Given the description of an element on the screen output the (x, y) to click on. 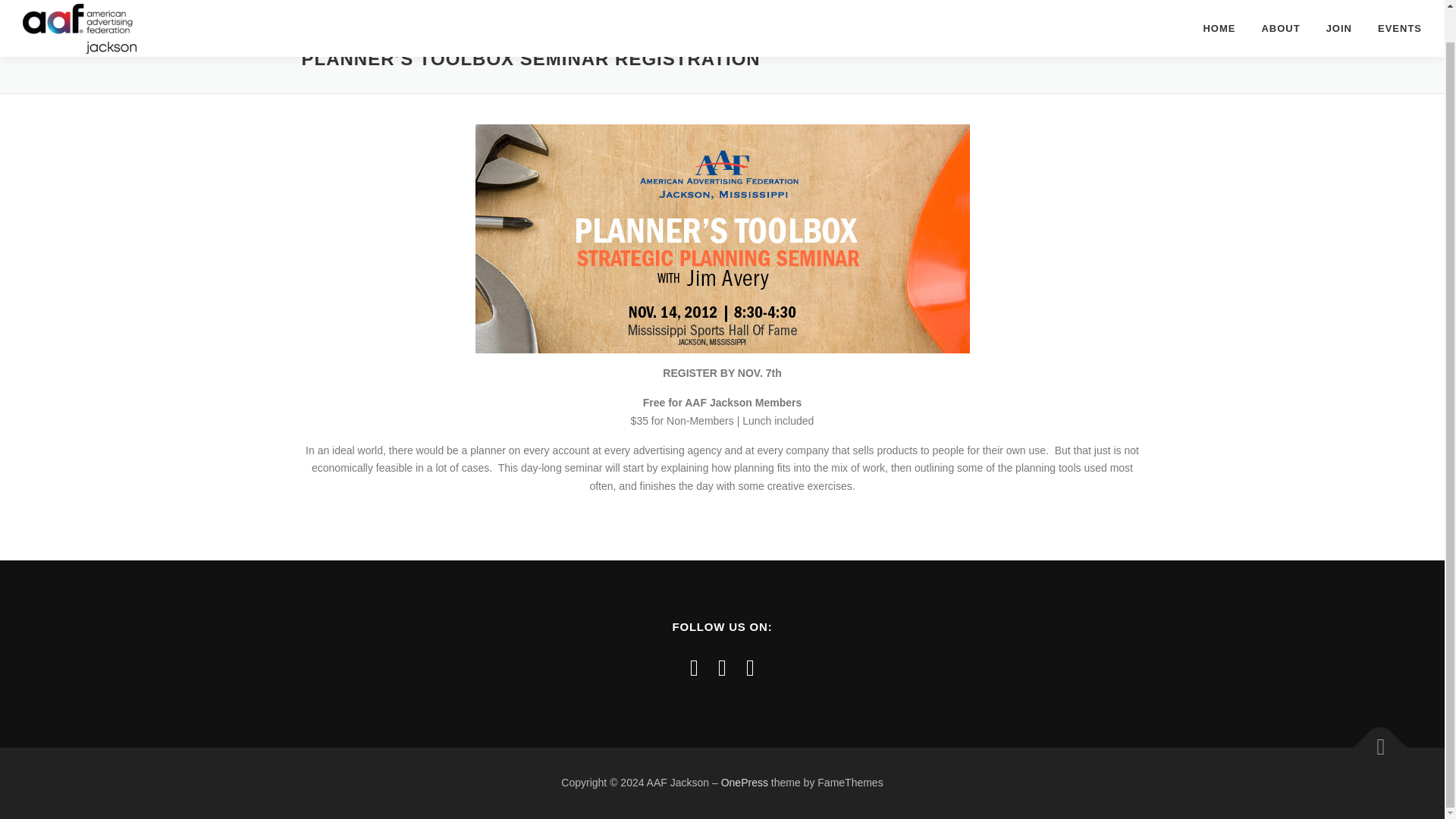
ABOUT (1280, 11)
OnePress (744, 782)
HOME (1218, 11)
Back To Top (1372, 740)
JOIN (1339, 11)
EVENTS (1393, 11)
